Given the description of an element on the screen output the (x, y) to click on. 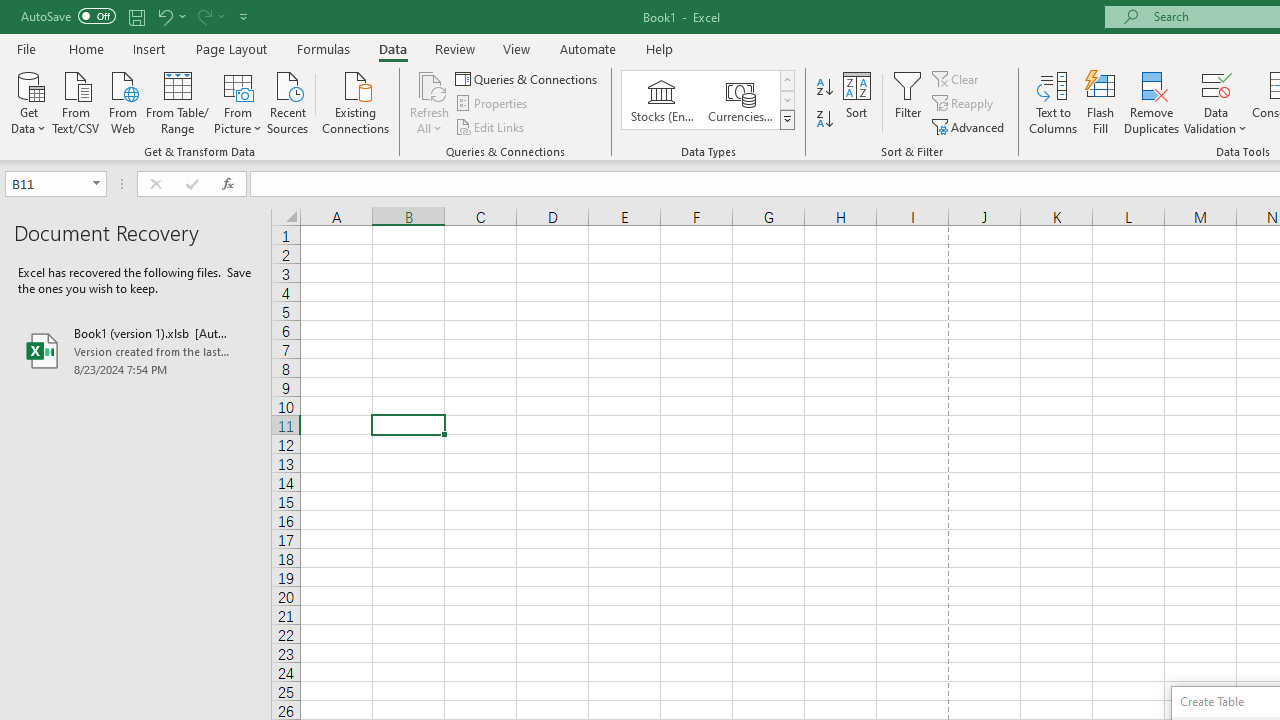
Advanced... (970, 126)
Refresh All (429, 84)
Sort A to Z (824, 87)
Flash Fill (1101, 102)
Edit Links (491, 126)
